Given the description of an element on the screen output the (x, y) to click on. 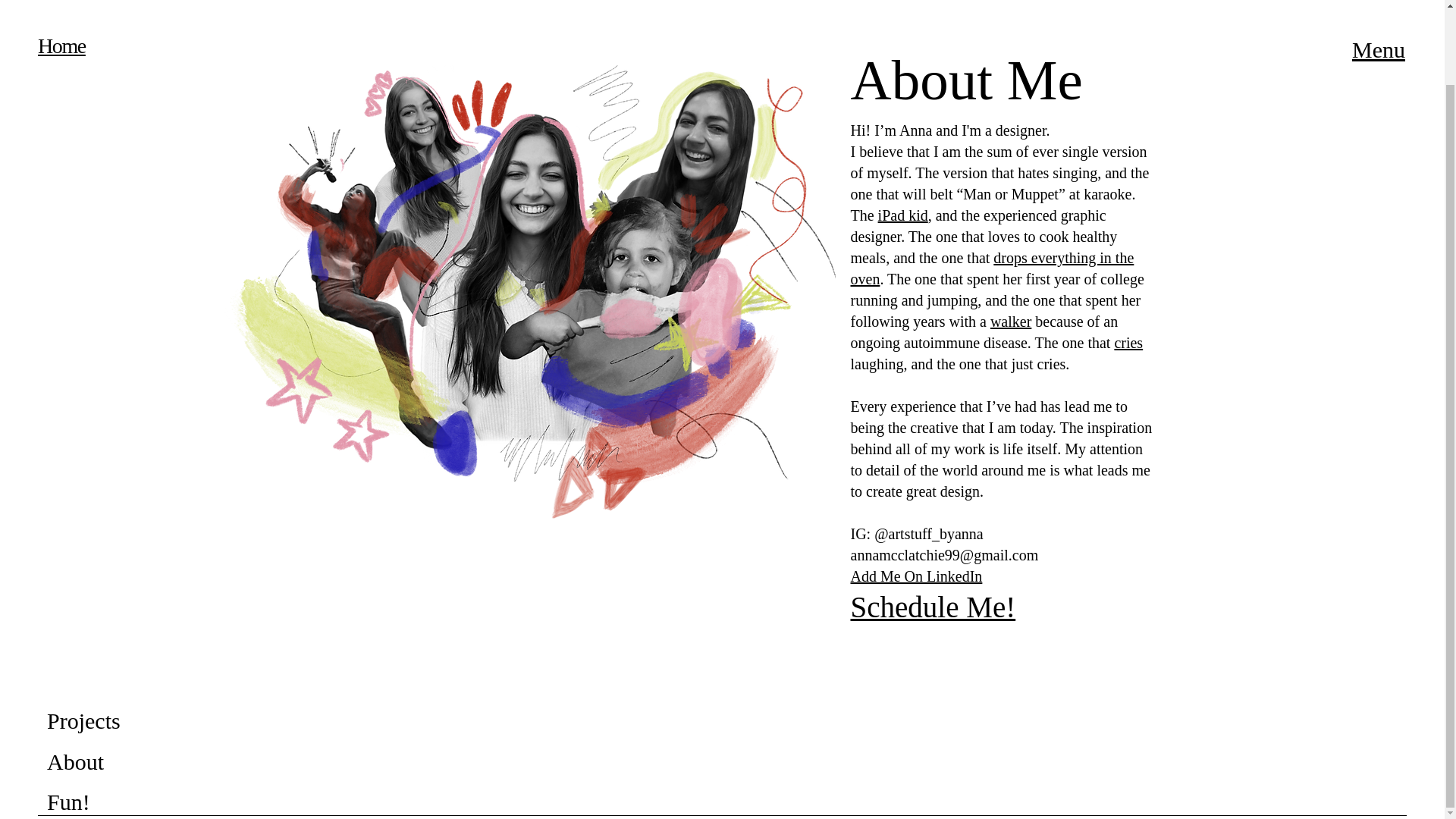
Schedule Me! (933, 606)
Projects (83, 720)
walker (1010, 321)
drops everything in the oven (992, 268)
iPad kid (902, 215)
About (74, 761)
Add Me On LinkedIn (916, 576)
Fun! (68, 801)
cries (1127, 342)
